Given the description of an element on the screen output the (x, y) to click on. 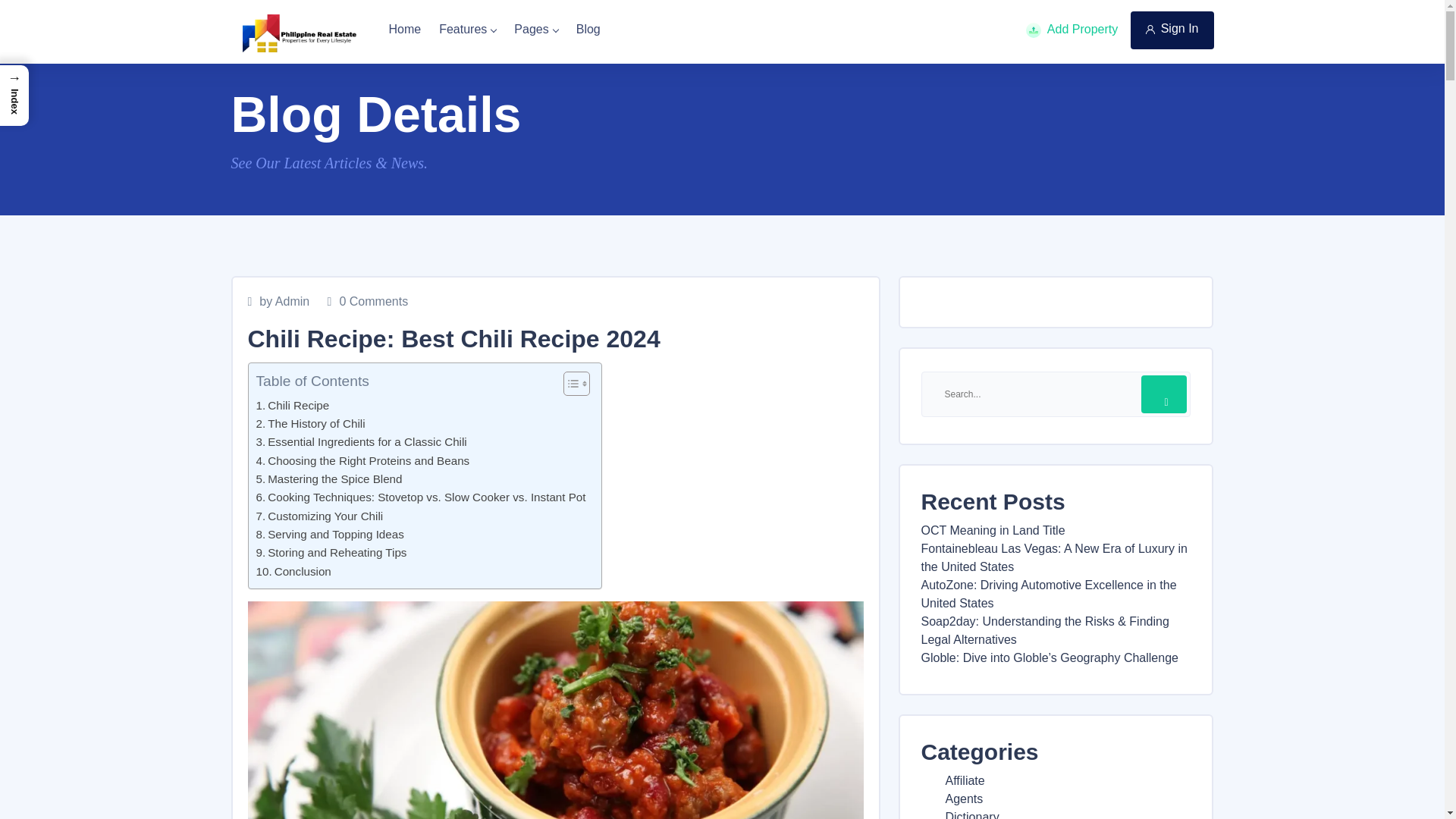
Chili Recipe (293, 405)
Mastering the Spice Blend (329, 479)
Philippine Real Estate - Buy, Sell, Rent Property Online (299, 33)
Customizing Your Chili (320, 515)
Choosing the Right Proteins and Beans (363, 461)
by Admin (277, 301)
Add Property (1071, 30)
Conclusion (293, 571)
0 Comments (368, 301)
Essential Ingredients for a Classic Chili (361, 442)
Customizing Your Chili (320, 515)
Storing and Reheating Tips (331, 552)
Sign In (1172, 29)
Blog (588, 29)
Serving and Topping Ideas (330, 534)
